Given the description of an element on the screen output the (x, y) to click on. 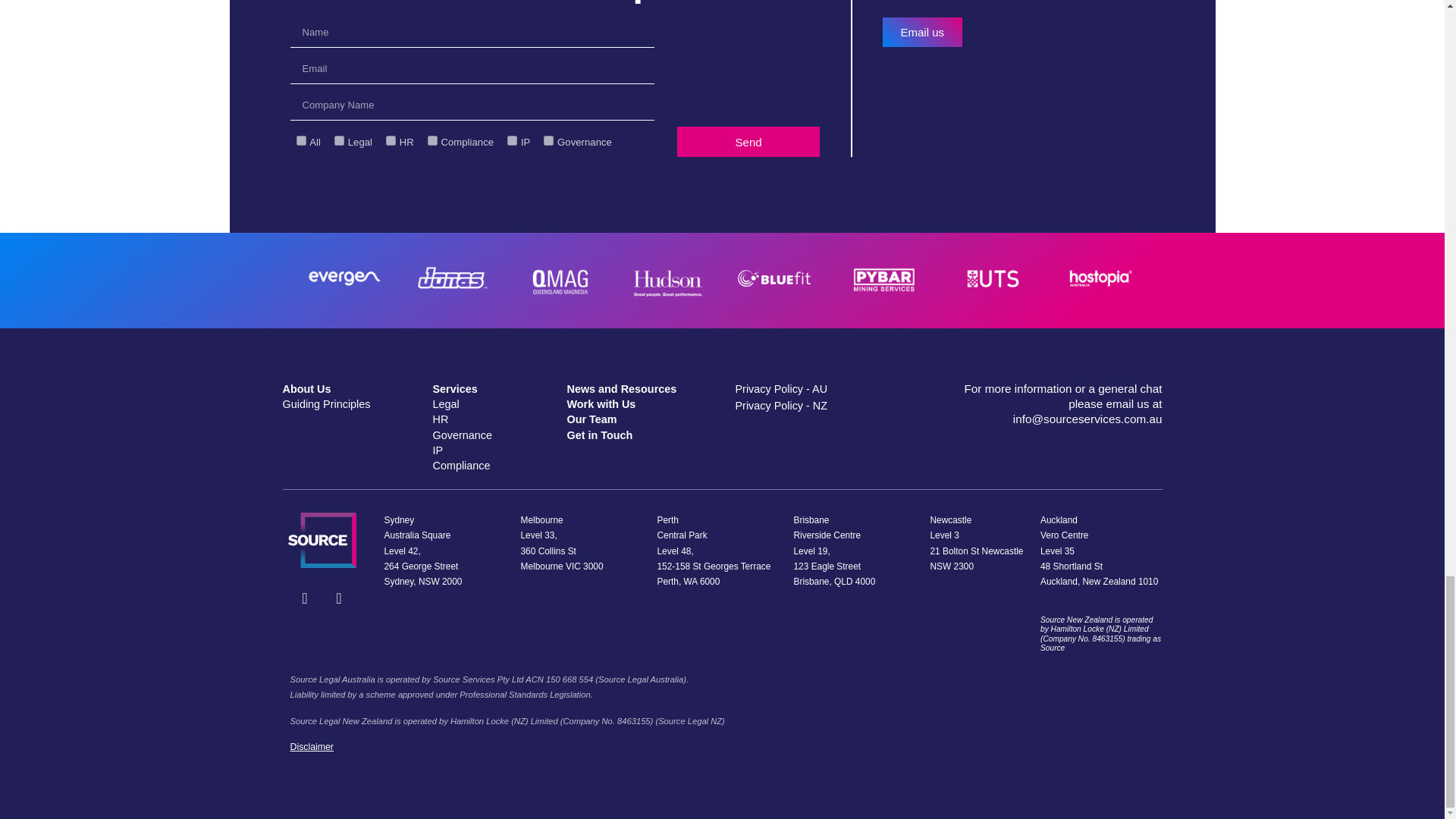
Governance (548, 140)
Legal (338, 140)
HR (390, 140)
IP (511, 140)
Compliance (433, 140)
All (300, 140)
